Given the description of an element on the screen output the (x, y) to click on. 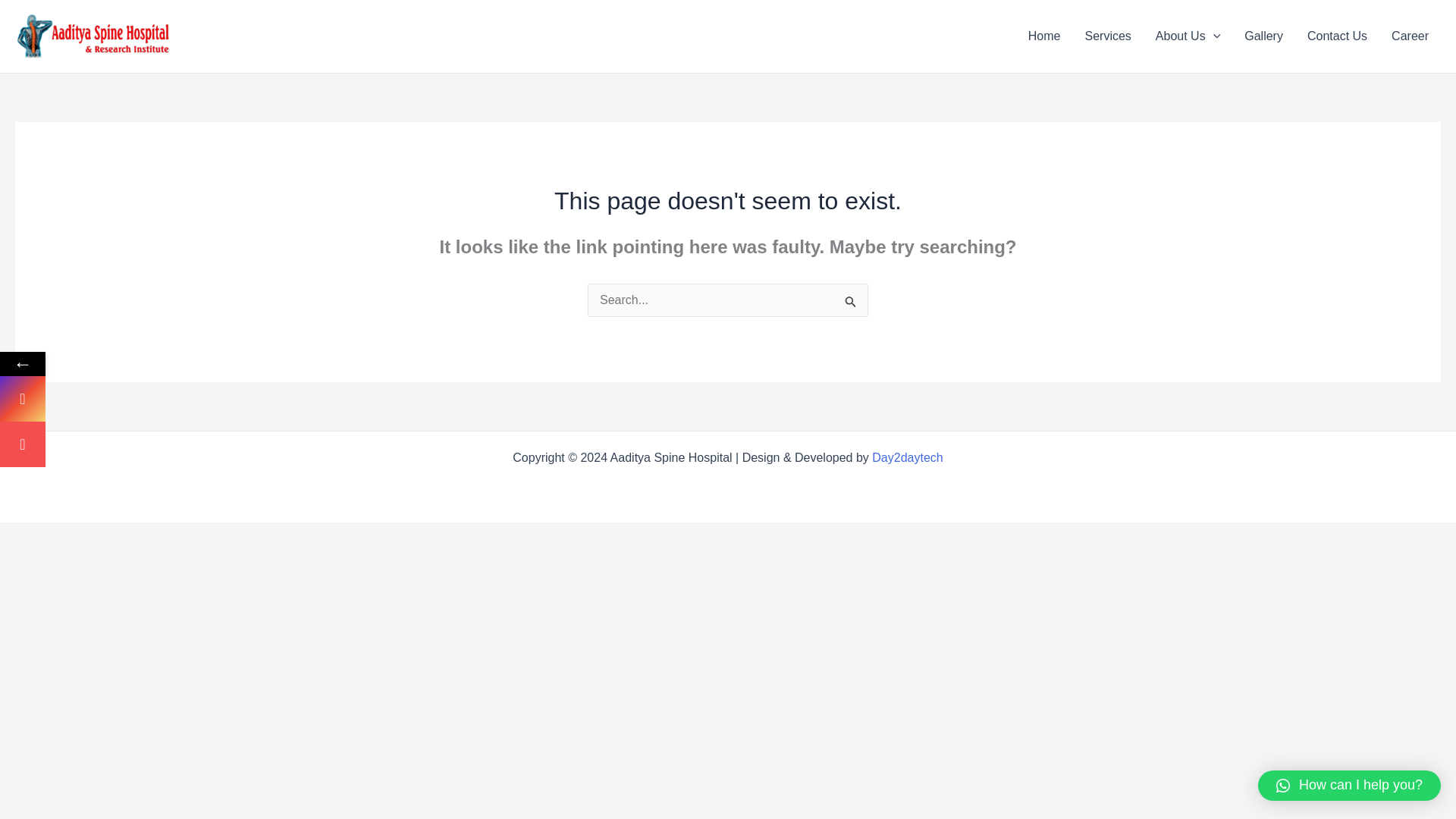
Gallery (1263, 35)
Instagram (123, 398)
Career (1409, 35)
YouTube (123, 443)
Day2daytech (907, 457)
How can I help you? (1349, 785)
YouTube (22, 443)
Contact Us (1336, 35)
About Us (1186, 35)
Services (1106, 35)
Instagram (22, 398)
YouTube (123, 443)
Home (1044, 35)
Instagram (123, 398)
